Given the description of an element on the screen output the (x, y) to click on. 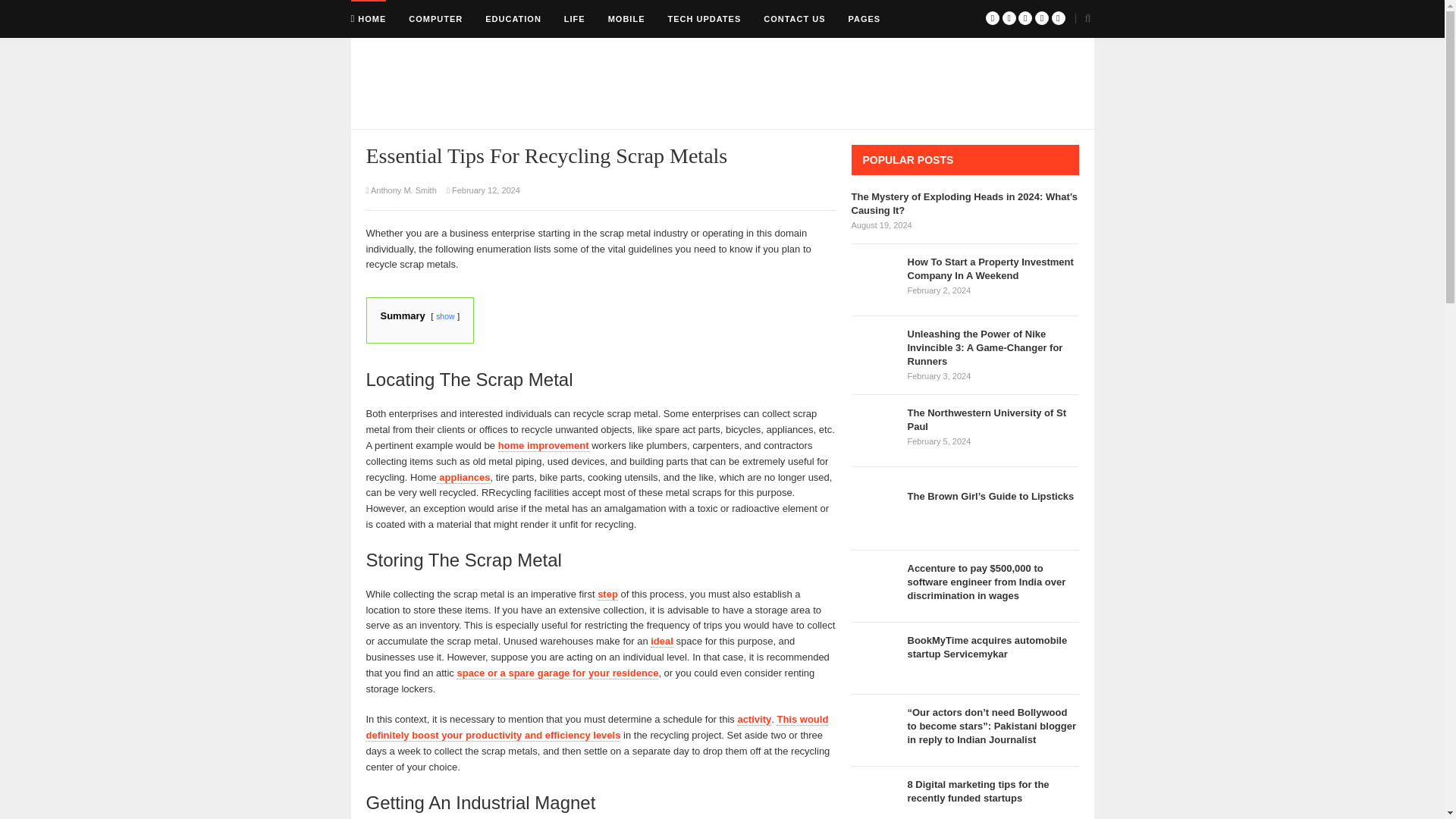
HOME (367, 18)
The Northwestern University of St Paul 6 (874, 430)
TECH UPDATES (703, 18)
How To Start a Property Investment Company In A Weekend 4 (874, 279)
8 Digital marketing tips for the recently funded startups 11 (874, 798)
MOBILE (626, 18)
CONTACT US (793, 18)
EDUCATION (512, 18)
COMPUTER (436, 18)
